Given the description of an element on the screen output the (x, y) to click on. 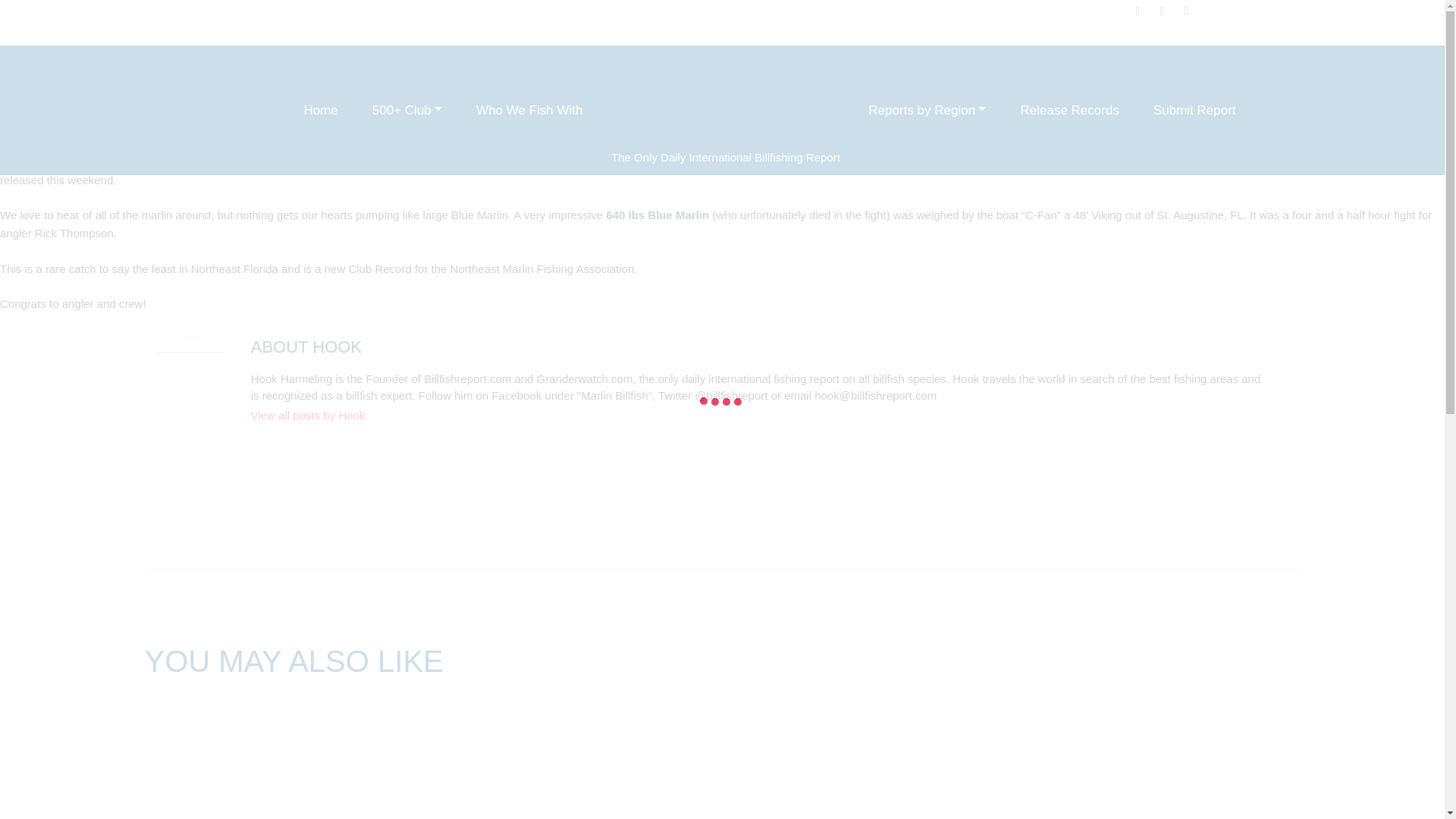
Release Records (1069, 109)
Who We Fish With (529, 109)
Reports by Region (927, 109)
View all posts by Hook (756, 415)
Home (320, 109)
Submit Report (1194, 109)
